Given the description of an element on the screen output the (x, y) to click on. 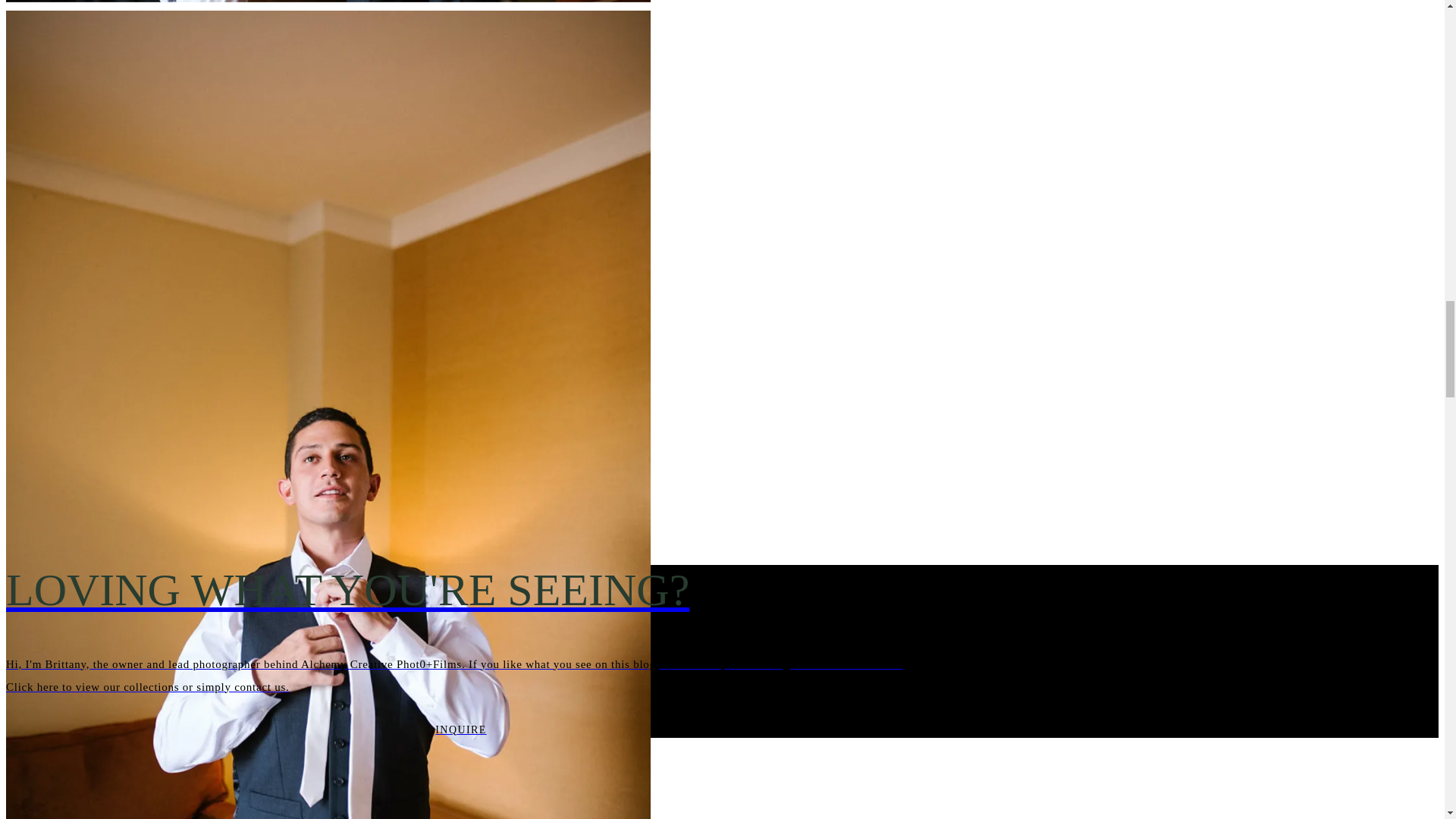
LOVING WHAT YOU'RE SEEING? (460, 590)
